Given the description of an element on the screen output the (x, y) to click on. 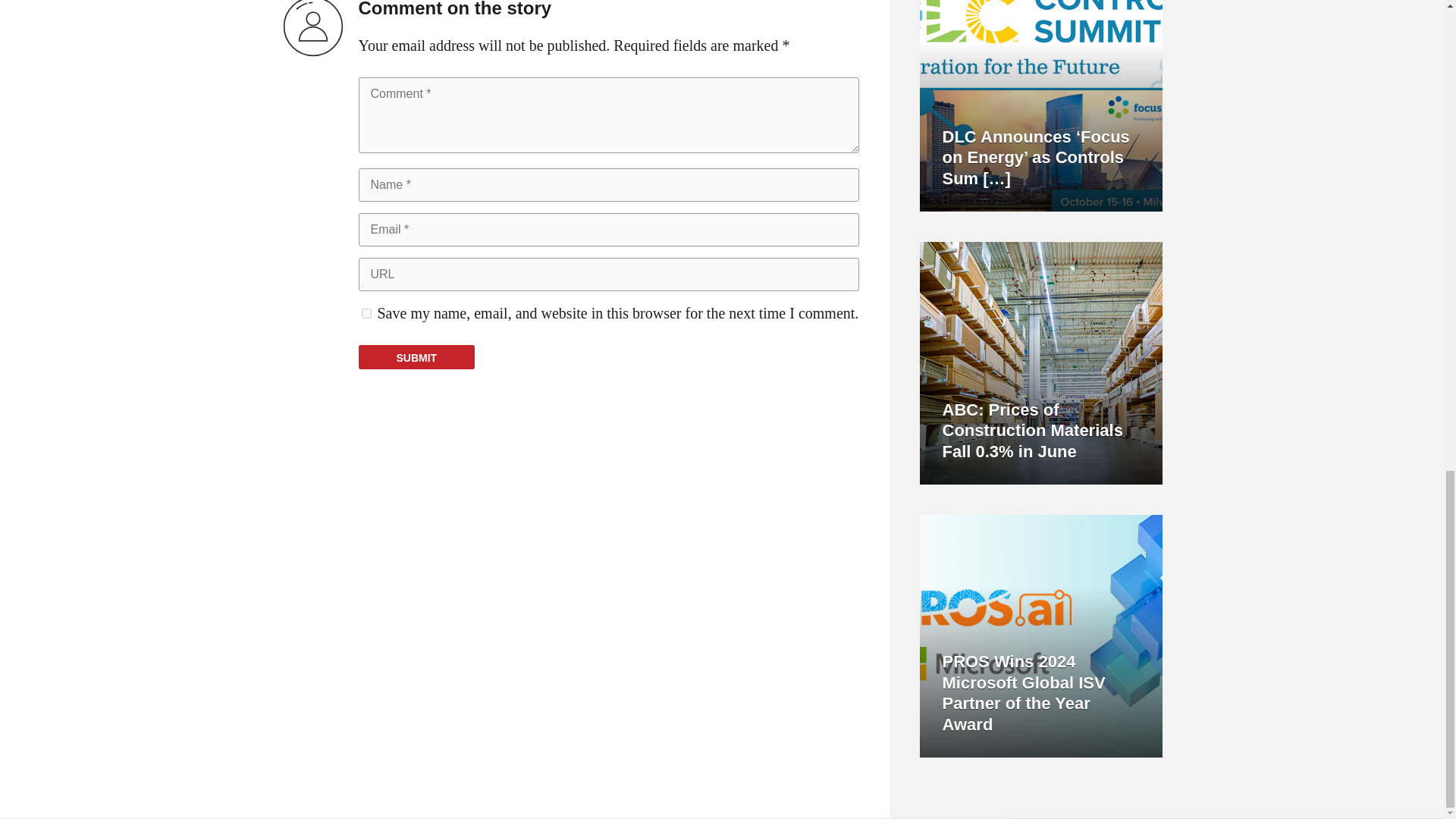
Submit (416, 356)
yes (366, 313)
